Given the description of an element on the screen output the (x, y) to click on. 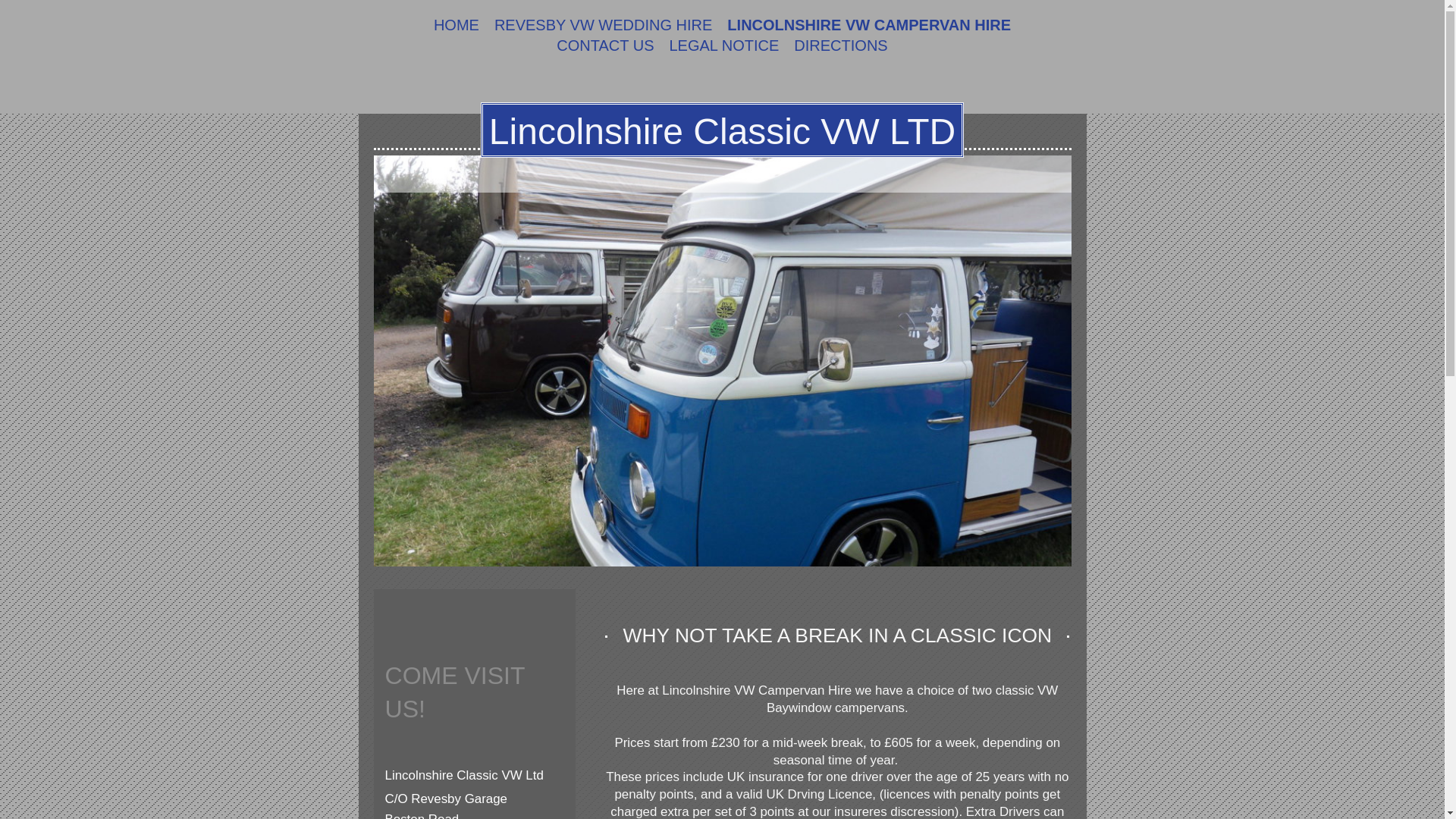
LINCOLNSHIRE VW CAMPERVAN HIRE (868, 25)
HOME (456, 25)
DIRECTIONS (840, 46)
Lincolnshire Classic VW LTD (721, 130)
REVESBY VW WEDDING HIRE (602, 25)
CONTACT US (604, 46)
LEGAL NOTICE (723, 46)
